Given the description of an element on the screen output the (x, y) to click on. 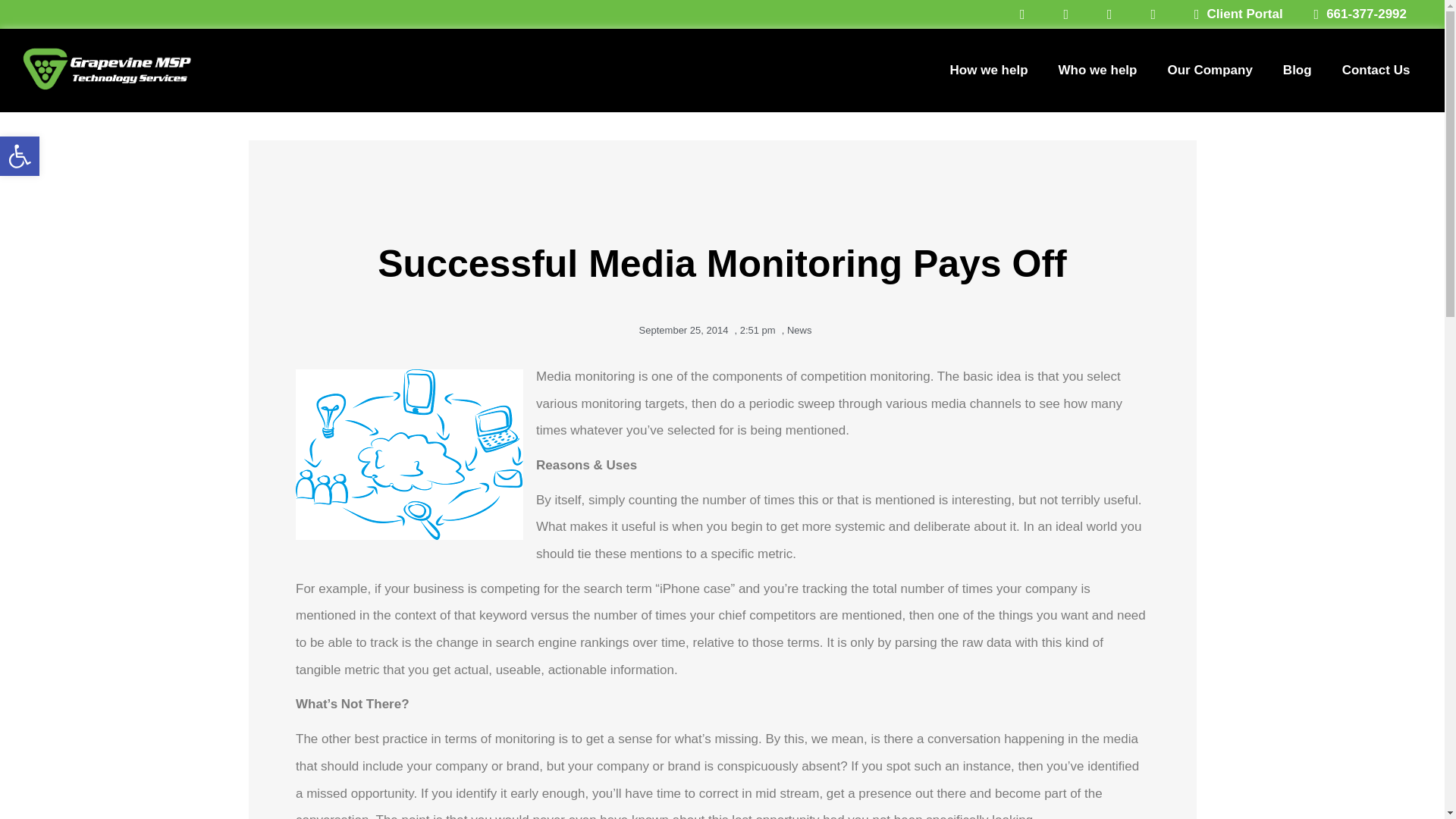
Blog (1297, 70)
News (799, 329)
Accessibility Tools (19, 156)
Accessibility Tools (19, 156)
Client Portal (1232, 14)
Contact Us (1375, 70)
How we help (988, 70)
September 25, 2014 (681, 330)
661-377-2992 (1353, 14)
Our Company (1208, 70)
Who we help (1098, 70)
